Given the description of an element on the screen output the (x, y) to click on. 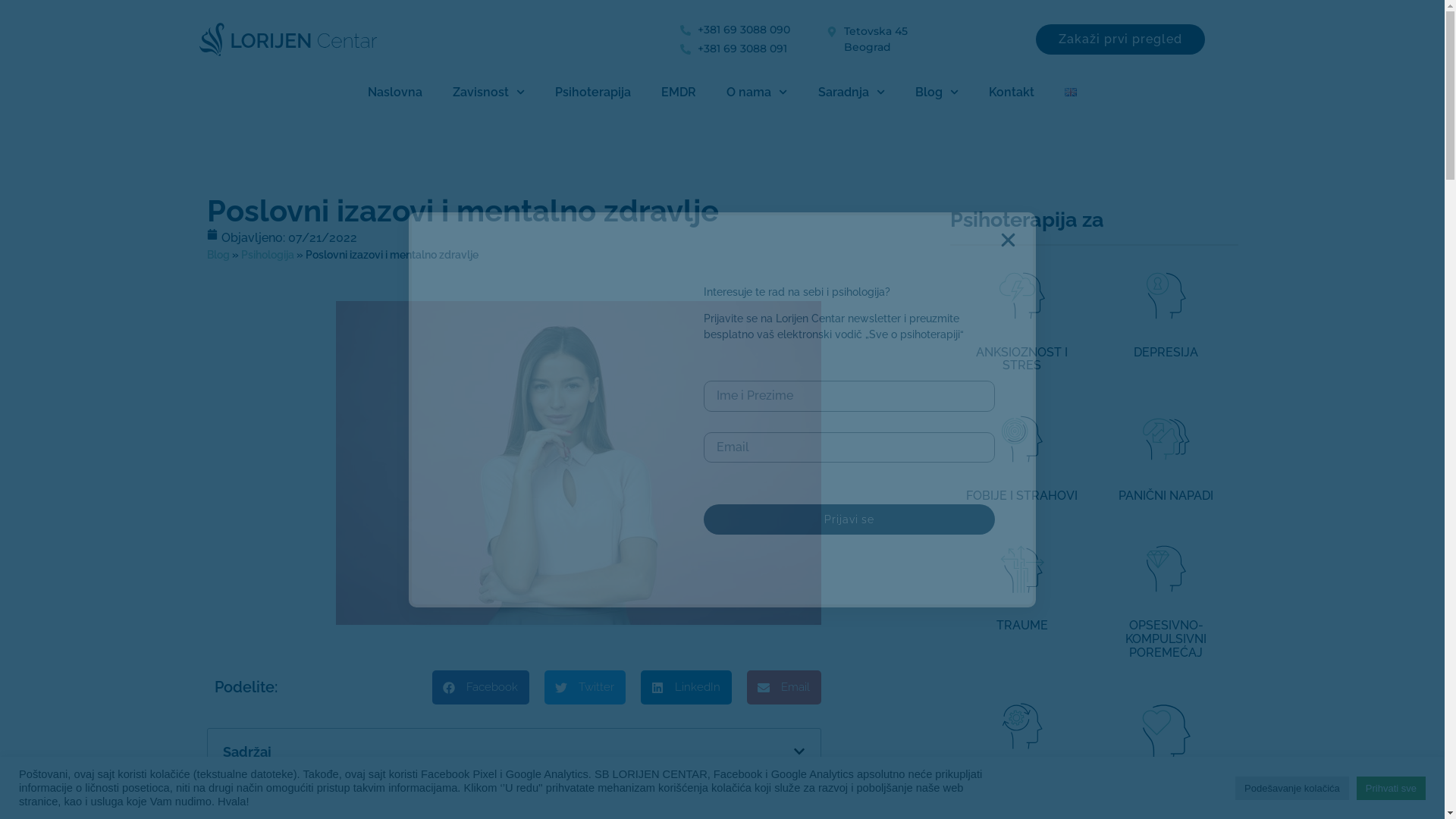
Psihoterapija Element type: text (592, 92)
Blog Element type: text (936, 92)
Zavisnost Element type: text (488, 92)
Blog Element type: text (217, 254)
Naslovna Element type: text (394, 92)
EMDR Element type: text (678, 92)
+381 69 3088 090 Element type: text (753, 29)
O nama Element type: text (756, 92)
Saradnja Element type: text (850, 92)
Tetovska 45
Beograd Element type: text (930, 39)
Kontakt Element type: text (1011, 92)
Prihvati sve Element type: text (1390, 788)
Psihologija Element type: text (267, 254)
+381 69 3088 091 Element type: text (753, 48)
